Given the description of an element on the screen output the (x, y) to click on. 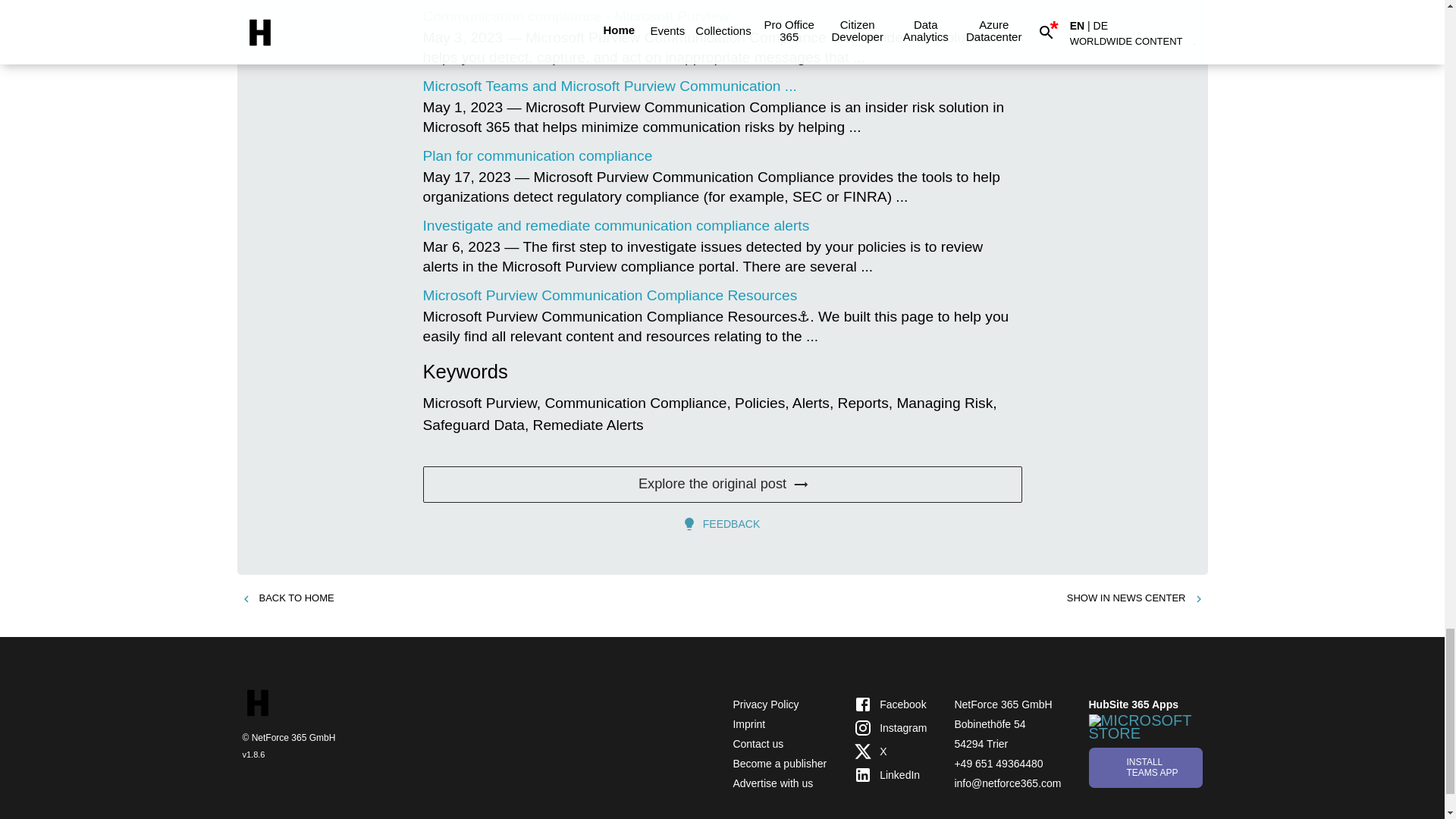
SHOW IN NEWS CENTER (1135, 598)
Plan for communication compliance (537, 155)
Communication compliance - Microsoft Purview (576, 16)
Microsoft Teams and Microsoft Purview Communication ... (609, 85)
Explore the original post (722, 484)
BACK TO HOME (286, 598)
Microsoft Purview Communication Compliance Resources (610, 295)
Investigate and remediate communication compliance alerts (616, 225)
Imprint (748, 724)
Privacy Policy (764, 704)
